Given the description of an element on the screen output the (x, y) to click on. 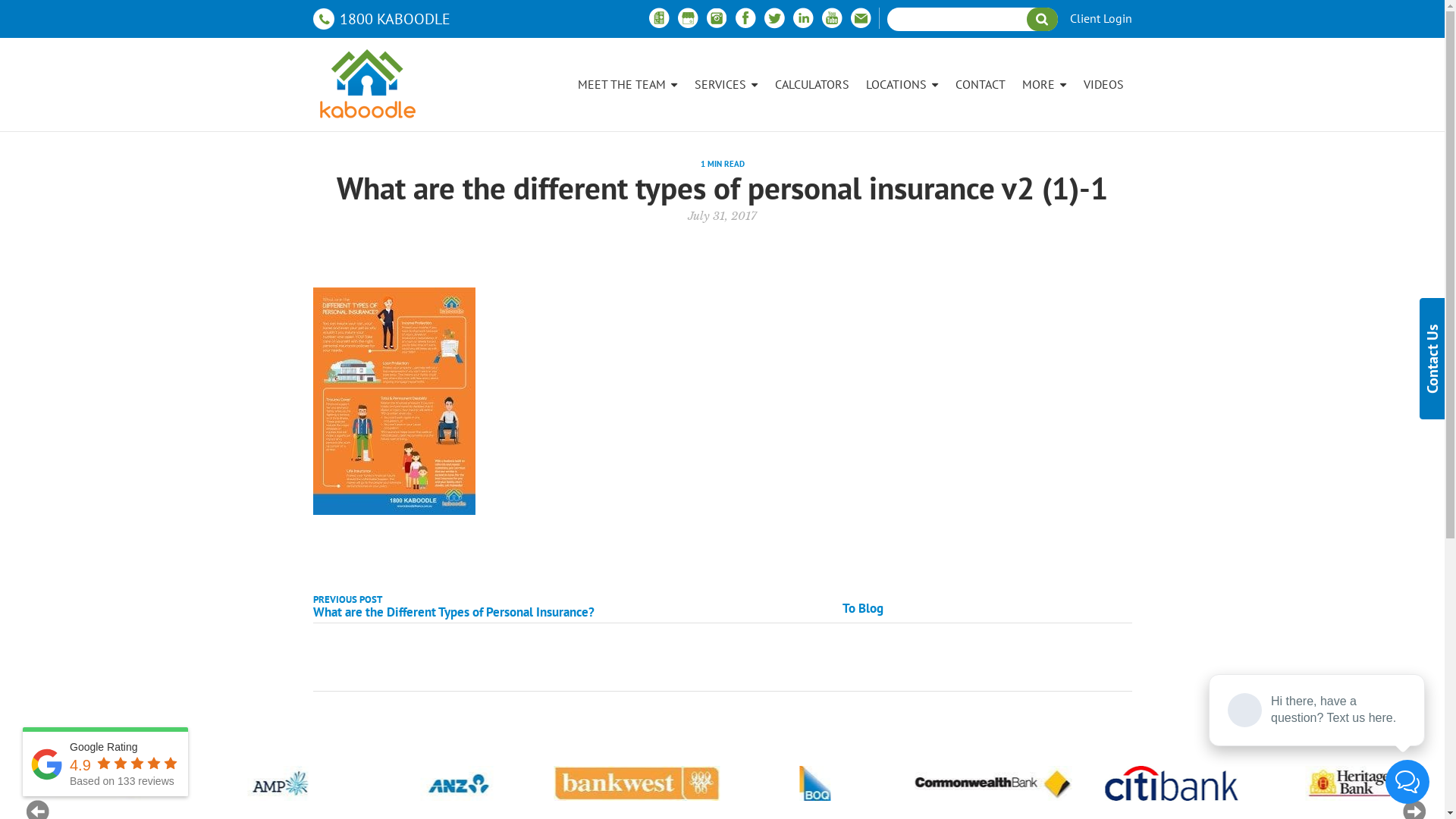
Logo 03 Element type: hover (278, 782)
Logo 09 Element type: hover (1314, 782)
Logo 09 Element type: hover (1320, 782)
Instagram Element type: hover (715, 17)
MEET THE TEAM Element type: text (626, 84)
Client Login Element type: text (1100, 18)
Linkedin Element type: hover (801, 17)
Twitter Element type: hover (773, 17)
Google Rating
4.9
Based on 133 reviews Element type: text (105, 761)
Logo 06 Element type: hover (812, 782)
1 MIN READ Element type: text (722, 163)
Google Business Element type: hover (686, 17)
Logo 02 Element type: hover (100, 782)
Logo 03 Element type: hover (278, 782)
email Element type: hover (859, 17)
Logo 08 Element type: hover (1156, 782)
CALCULATORS Element type: text (810, 84)
Free property report Element type: hover (657, 17)
MORE Element type: text (1043, 84)
LOCATIONS Element type: text (901, 84)
Logo 07 Element type: hover (988, 782)
Logo 04 Element type: hover (456, 782)
VIDEOS Element type: text (1103, 84)
Facebook Element type: hover (744, 17)
Logo 05 Element type: hover (635, 782)
Logo 04 Element type: hover (456, 782)
Youtube Element type: hover (830, 17)
SERVICES Element type: text (725, 84)
Logo 07 Element type: hover (985, 782)
CONTACT Element type: text (979, 84)
Logo 06 Element type: hover (813, 782)
Logo 08 Element type: hover (1152, 782)
To Blog Element type: text (862, 607)
Logo 02 Element type: hover (100, 782)
Logo 05 Element type: hover (634, 782)
